Given the description of an element on the screen output the (x, y) to click on. 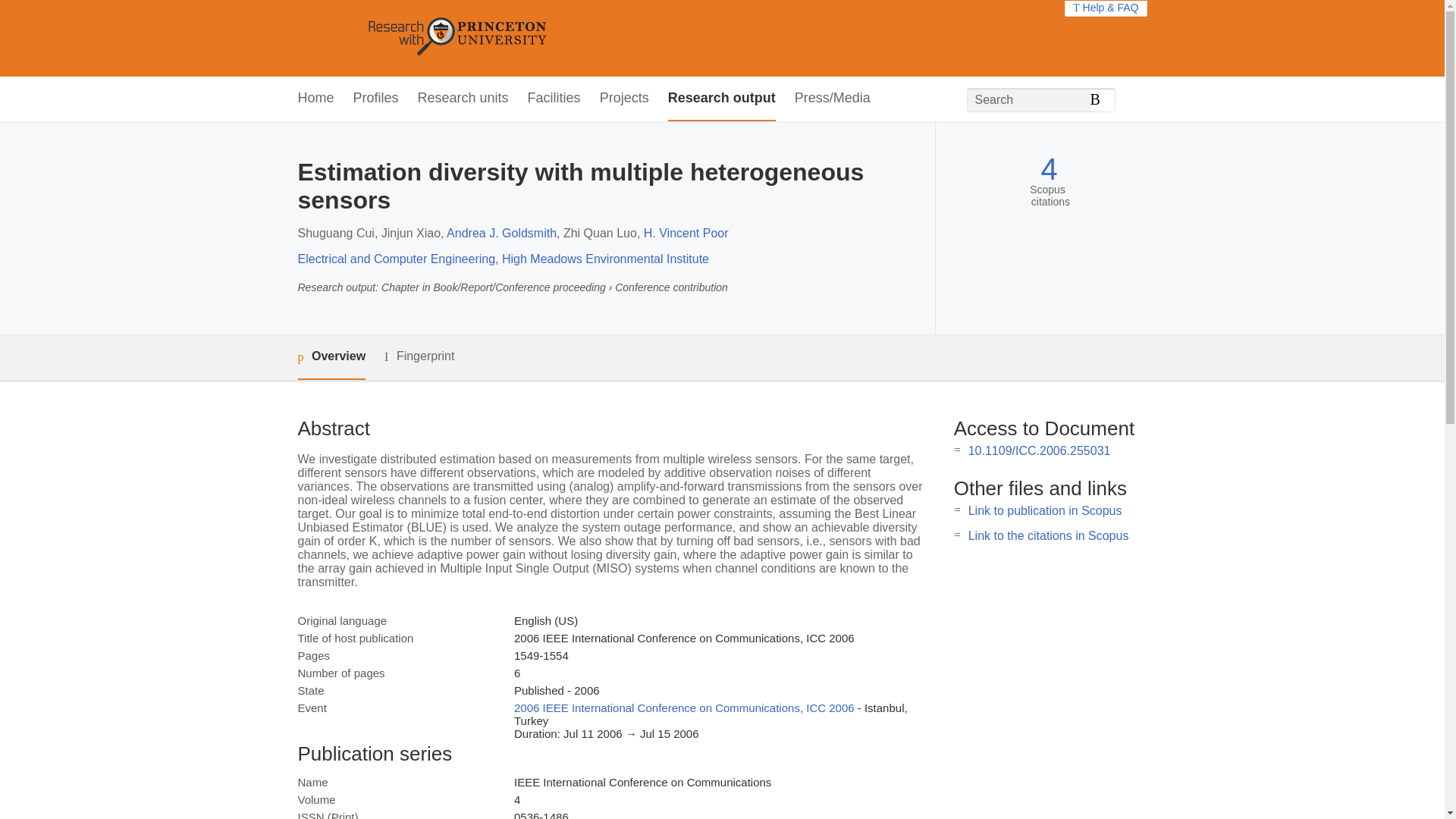
Fingerprint (419, 356)
Profiles (375, 98)
H. Vincent Poor (686, 232)
Princeton University Home (567, 38)
High Meadows Environmental Institute (605, 258)
Electrical and Computer Engineering (396, 258)
Link to publication in Scopus (1045, 510)
Projects (624, 98)
Research units (462, 98)
